Given the description of an element on the screen output the (x, y) to click on. 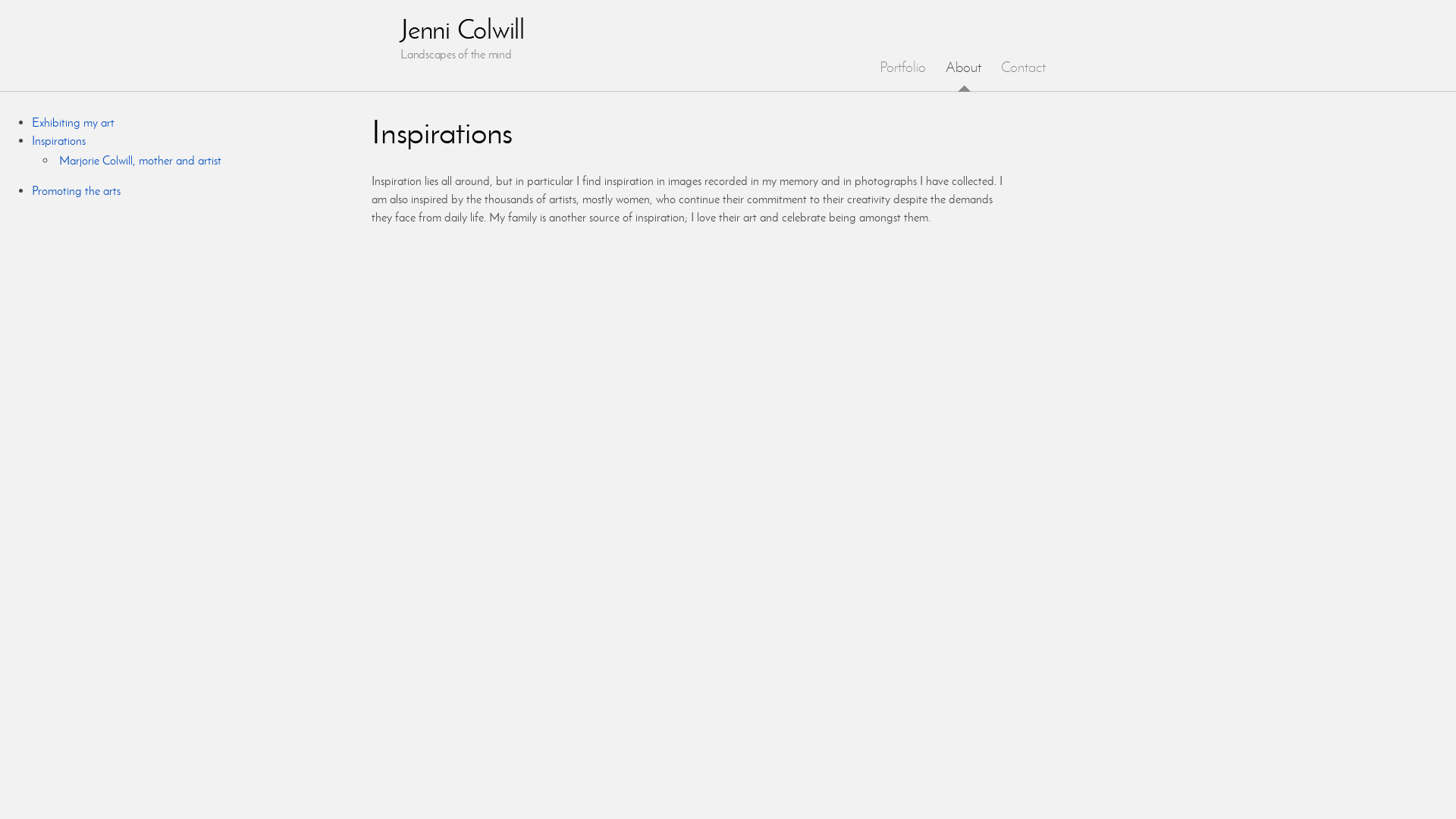
Portfolio Element type: text (902, 66)
Contact Element type: text (1022, 66)
Promoting the arts Element type: text (75, 190)
Exhibiting my art Element type: text (72, 122)
About Element type: text (963, 66)
Jenni Colwill Element type: text (462, 28)
Marjorie Colwill, mother and artist Element type: text (140, 160)
Inspirations Element type: text (58, 140)
